Given the description of an element on the screen output the (x, y) to click on. 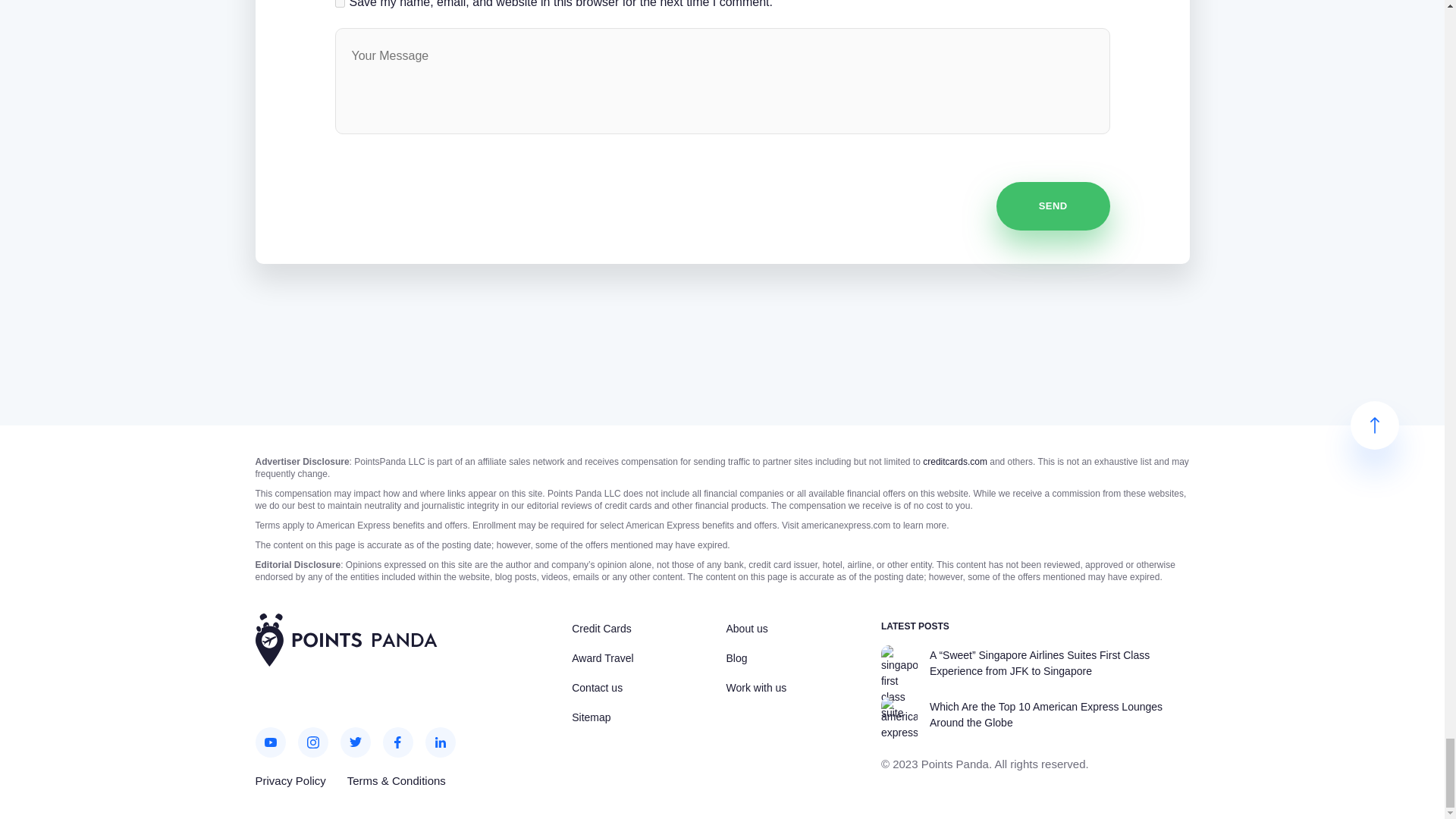
Send (1052, 205)
yes (339, 3)
